Given the description of an element on the screen output the (x, y) to click on. 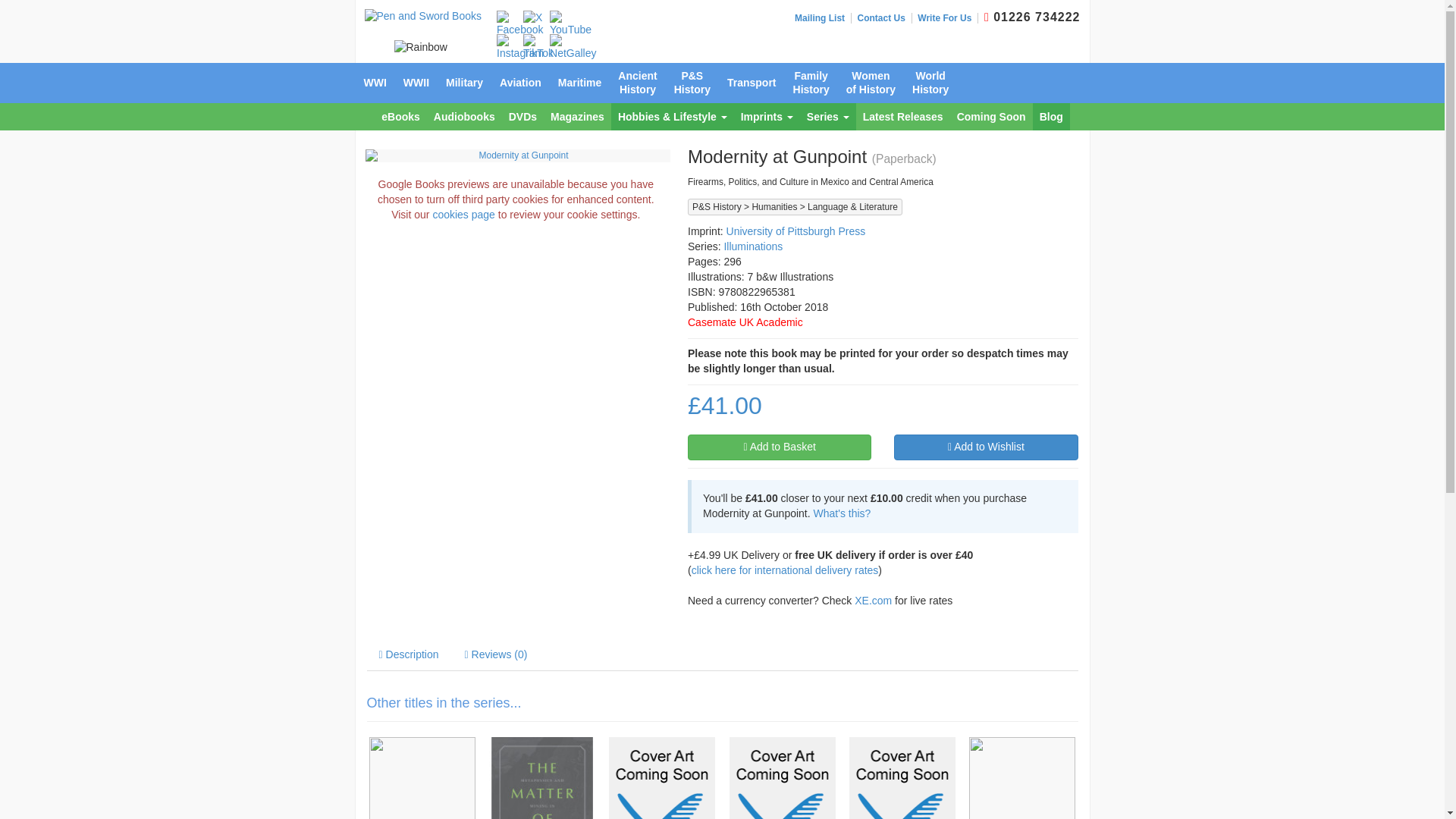
NetGalley (572, 47)
Write For Us (947, 18)
X (531, 17)
Contact Us (884, 18)
Spanish King Of The Incas (1021, 778)
TikTok (537, 47)
The Optic of the State (662, 778)
Intersecting Tango (902, 778)
Illuminations (753, 246)
Facebook (519, 23)
